Given the description of an element on the screen output the (x, y) to click on. 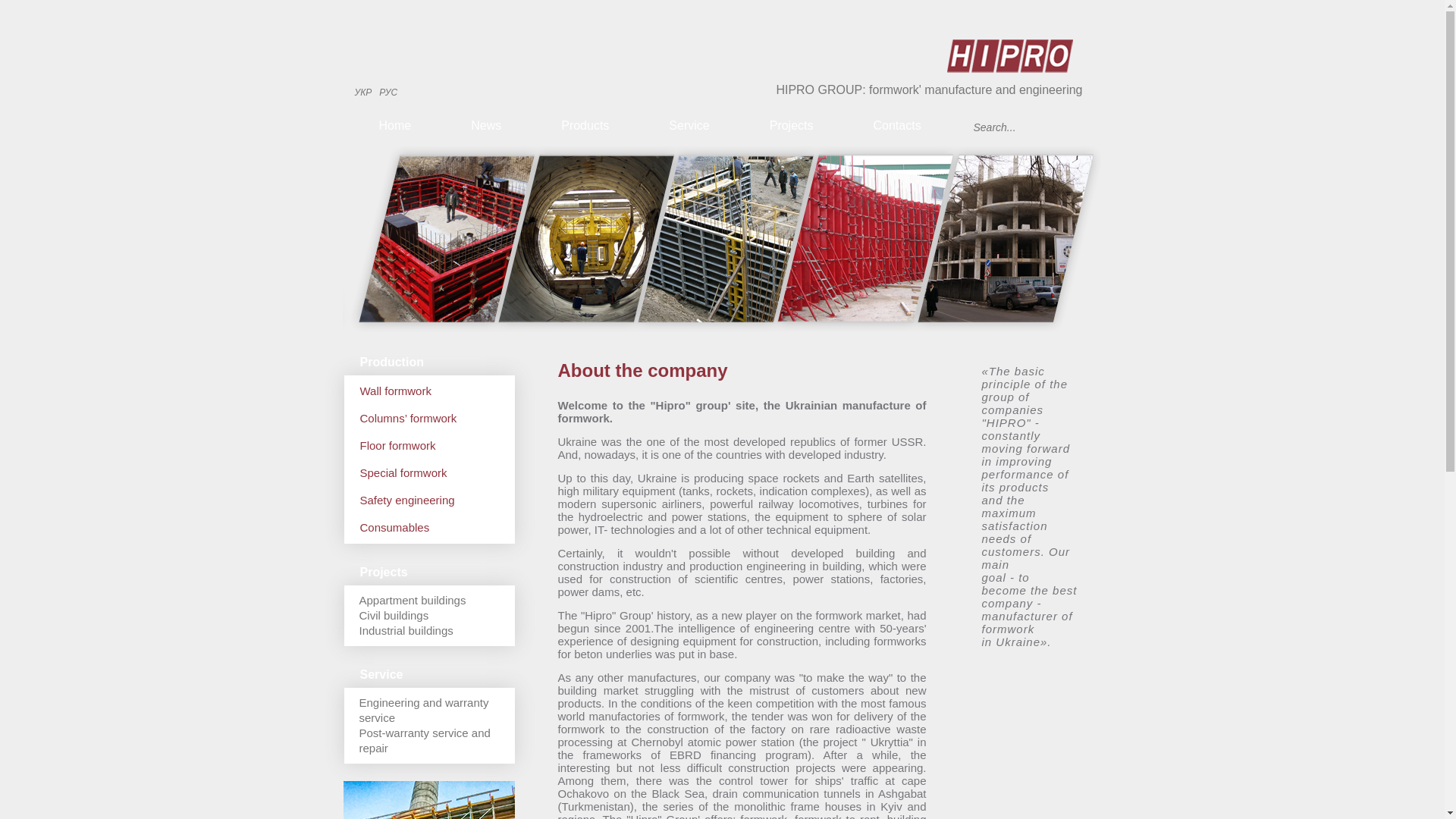
Projects (796, 125)
Appartment buildings (412, 599)
Wall formwork (429, 391)
Service (694, 125)
Consumables (429, 527)
Post-warranty service and repair (424, 740)
Home (400, 125)
Civil buildings (394, 615)
Civil buildings (394, 615)
Engineering and warranty service (424, 709)
